Given the description of an element on the screen output the (x, y) to click on. 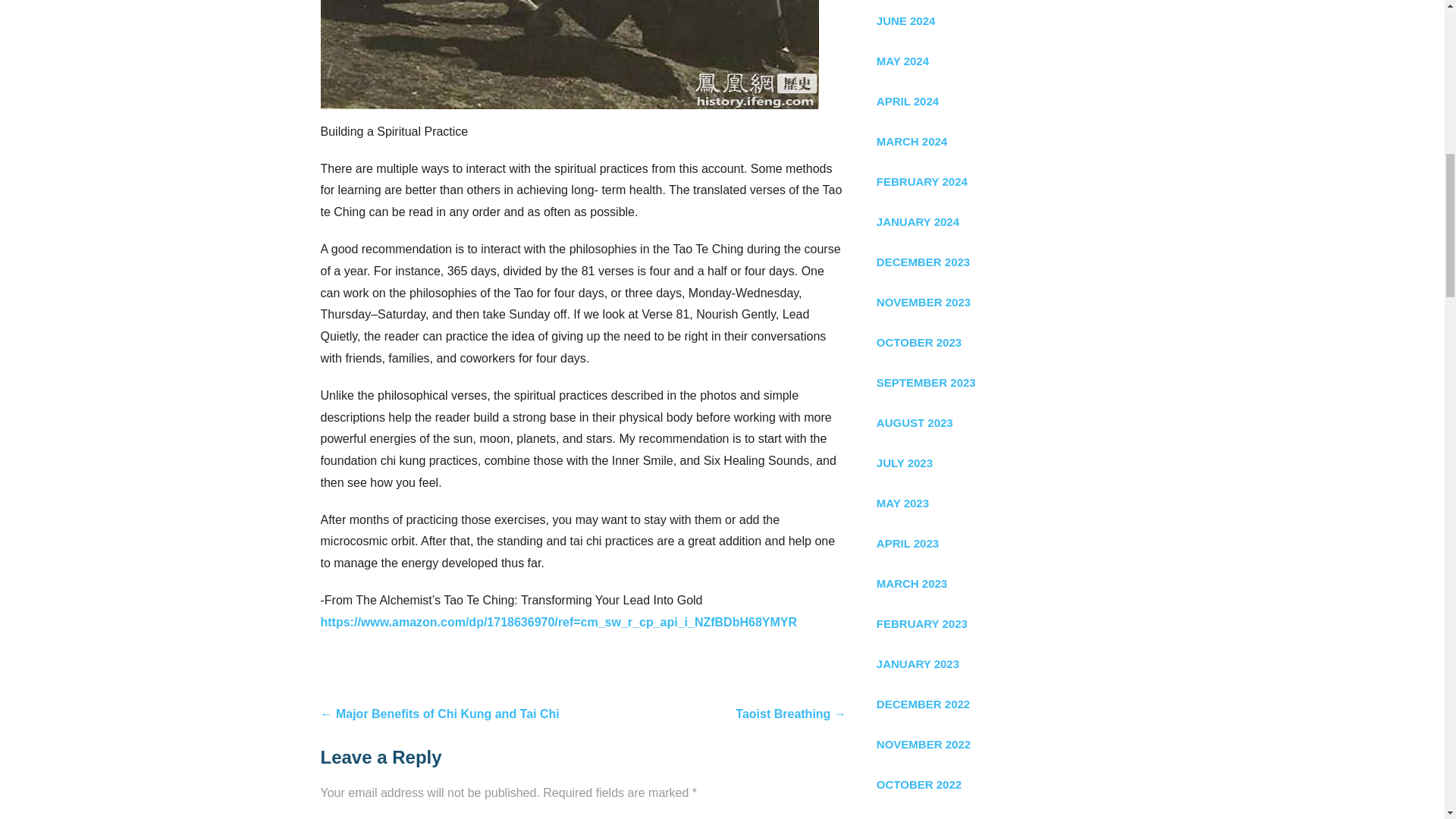
DECEMBER 2023 (1000, 261)
AUGUST 2023 (1000, 422)
NOVEMBER 2023 (1000, 301)
MAY 2023 (1000, 503)
JANUARY 2024 (1000, 221)
MAY 2024 (1000, 60)
FEBRUARY 2024 (1000, 181)
APRIL 2024 (1000, 101)
JUNE 2024 (1000, 20)
APRIL 2023 (1000, 543)
